Given the description of an element on the screen output the (x, y) to click on. 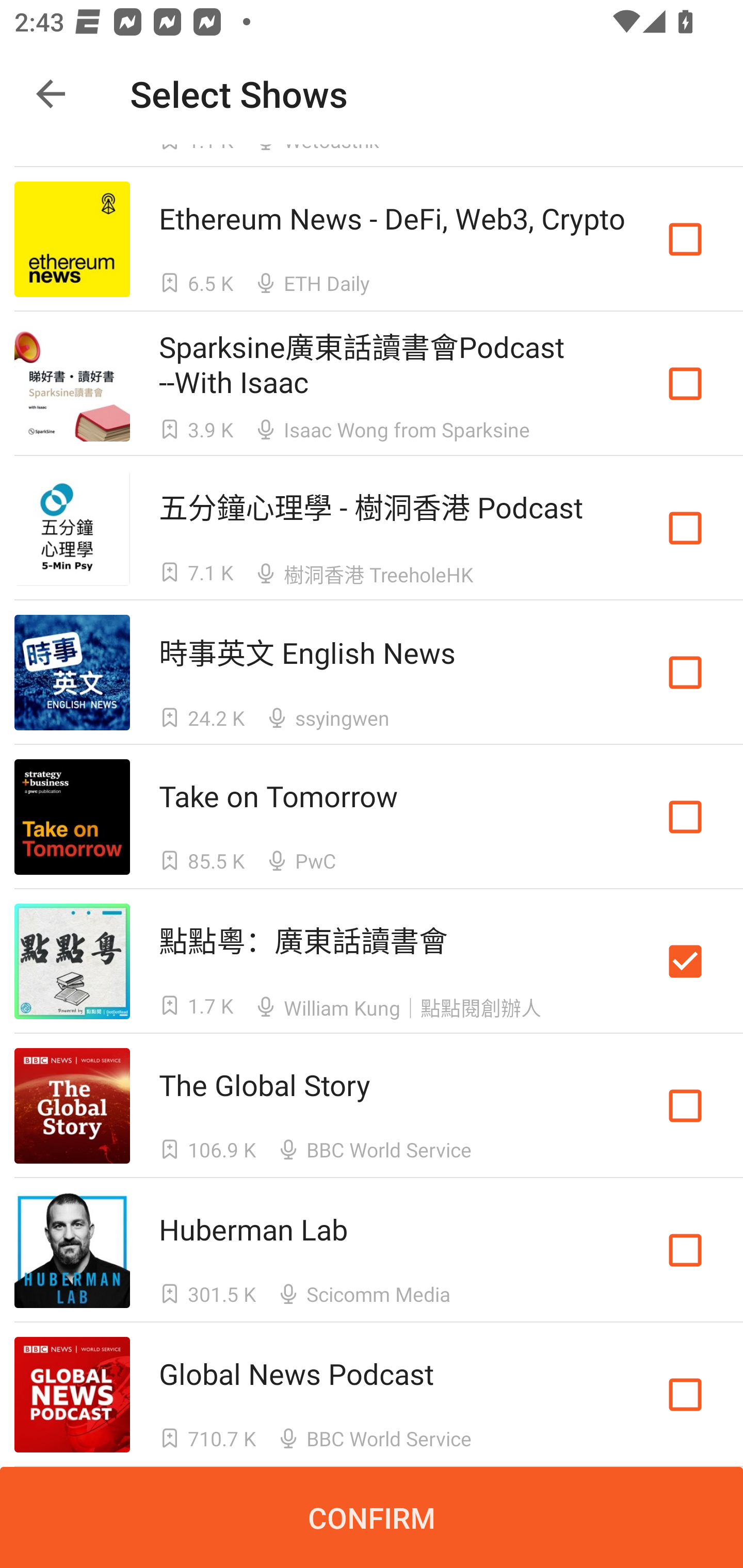
Navigate up (50, 93)
Take on Tomorrow Take on Tomorrow  85.5 K  PwC (371, 816)
CONFIRM (371, 1517)
